Given the description of an element on the screen output the (x, y) to click on. 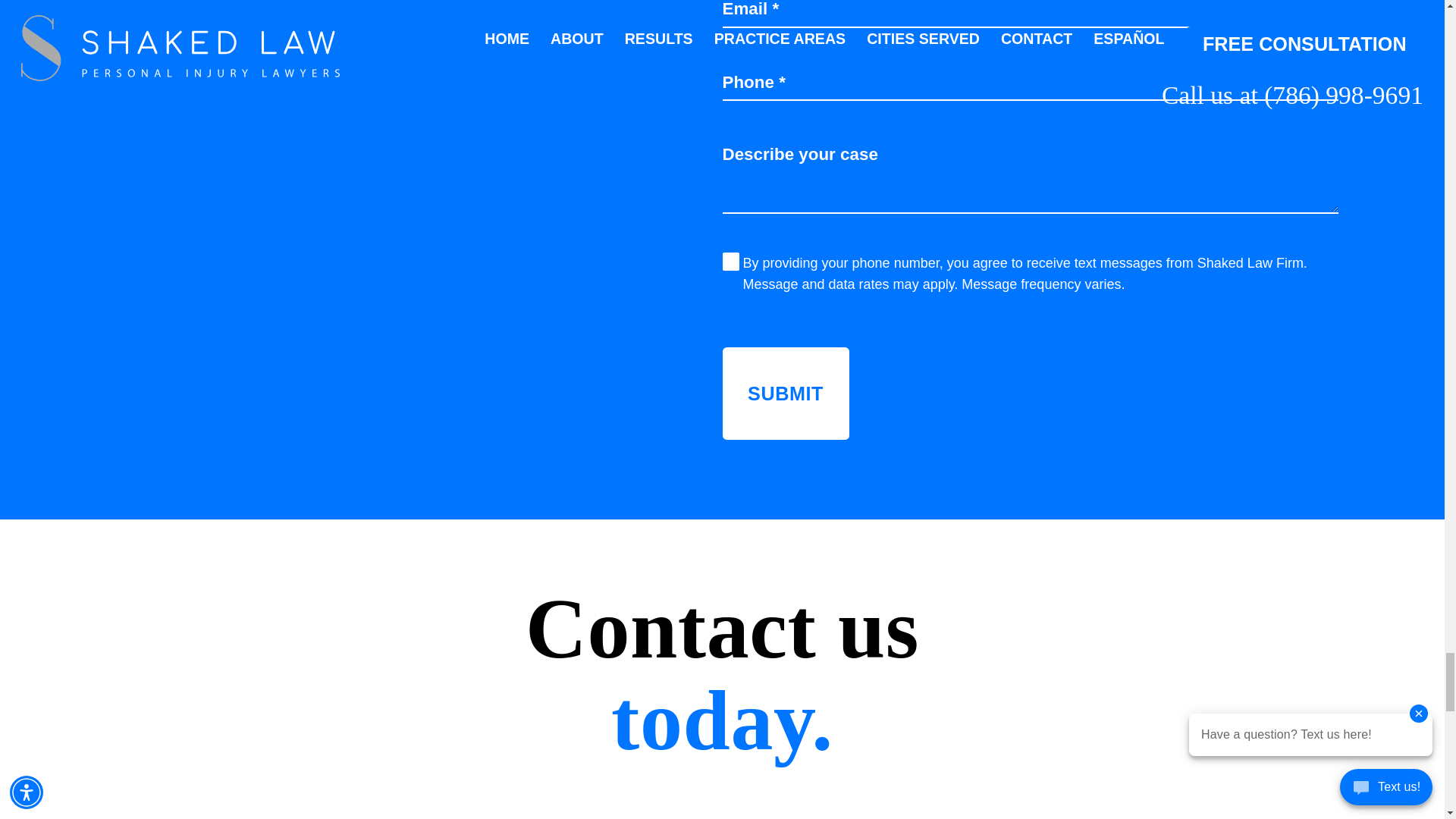
Submit (785, 393)
